Given the description of an element on the screen output the (x, y) to click on. 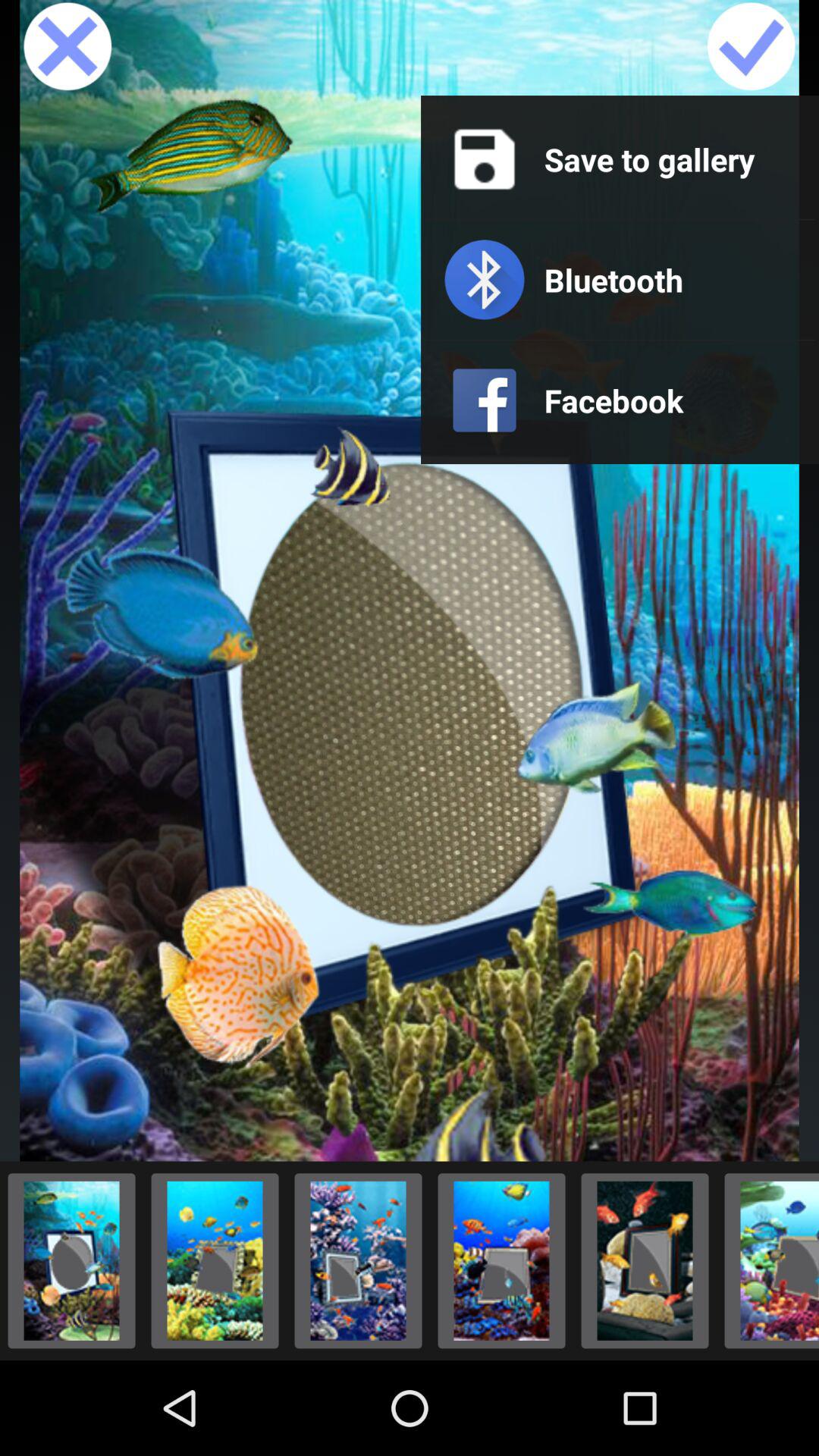
choose selection (357, 1260)
